Given the description of an element on the screen output the (x, y) to click on. 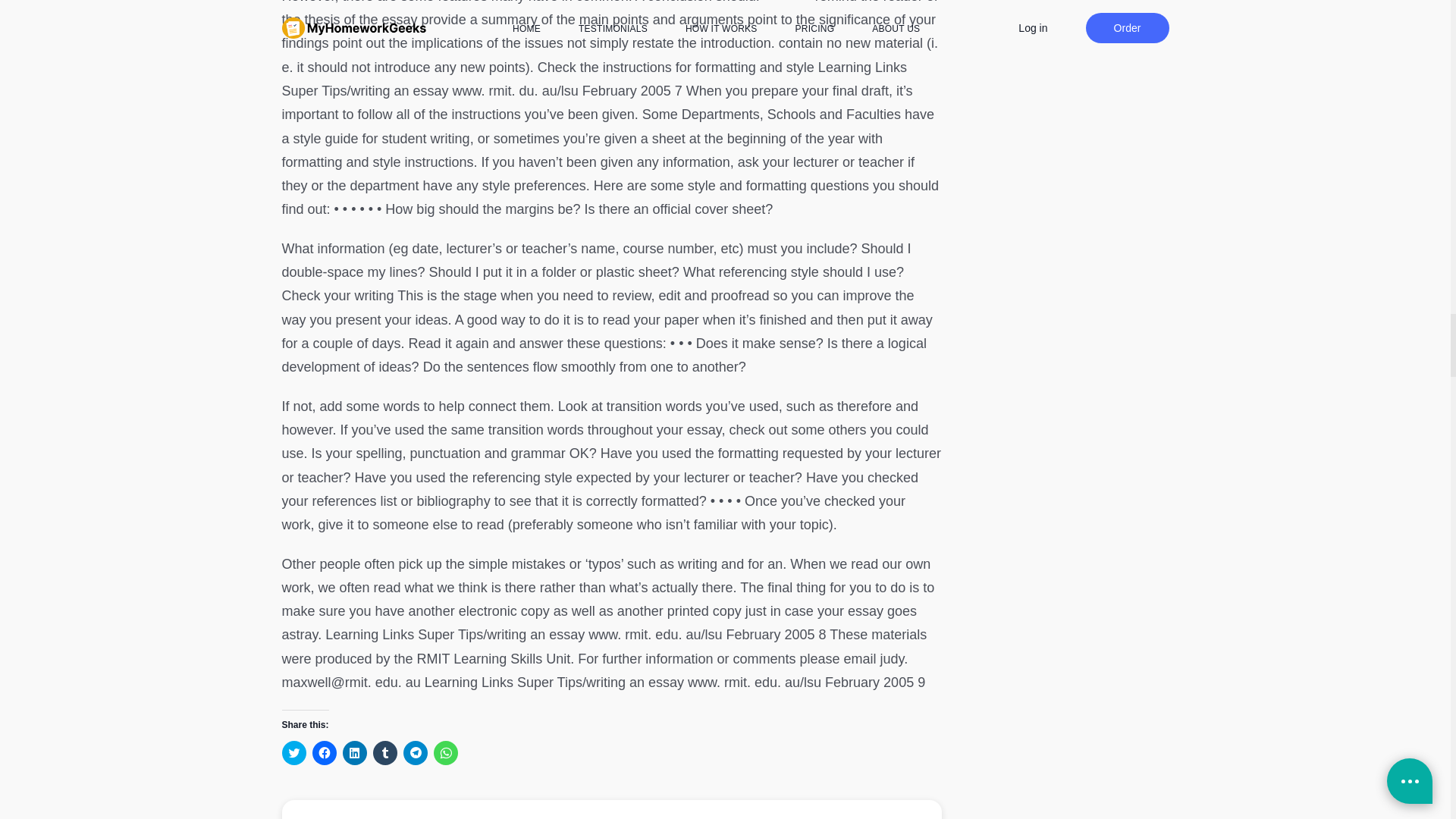
Click to share on WhatsApp (445, 752)
Click to share on Tumblr (384, 752)
Learn More (612, 809)
Click to share on Facebook (324, 752)
Click to share on LinkedIn (354, 752)
Click to share on Twitter (293, 752)
Click to share on Telegram (415, 752)
